Given the description of an element on the screen output the (x, y) to click on. 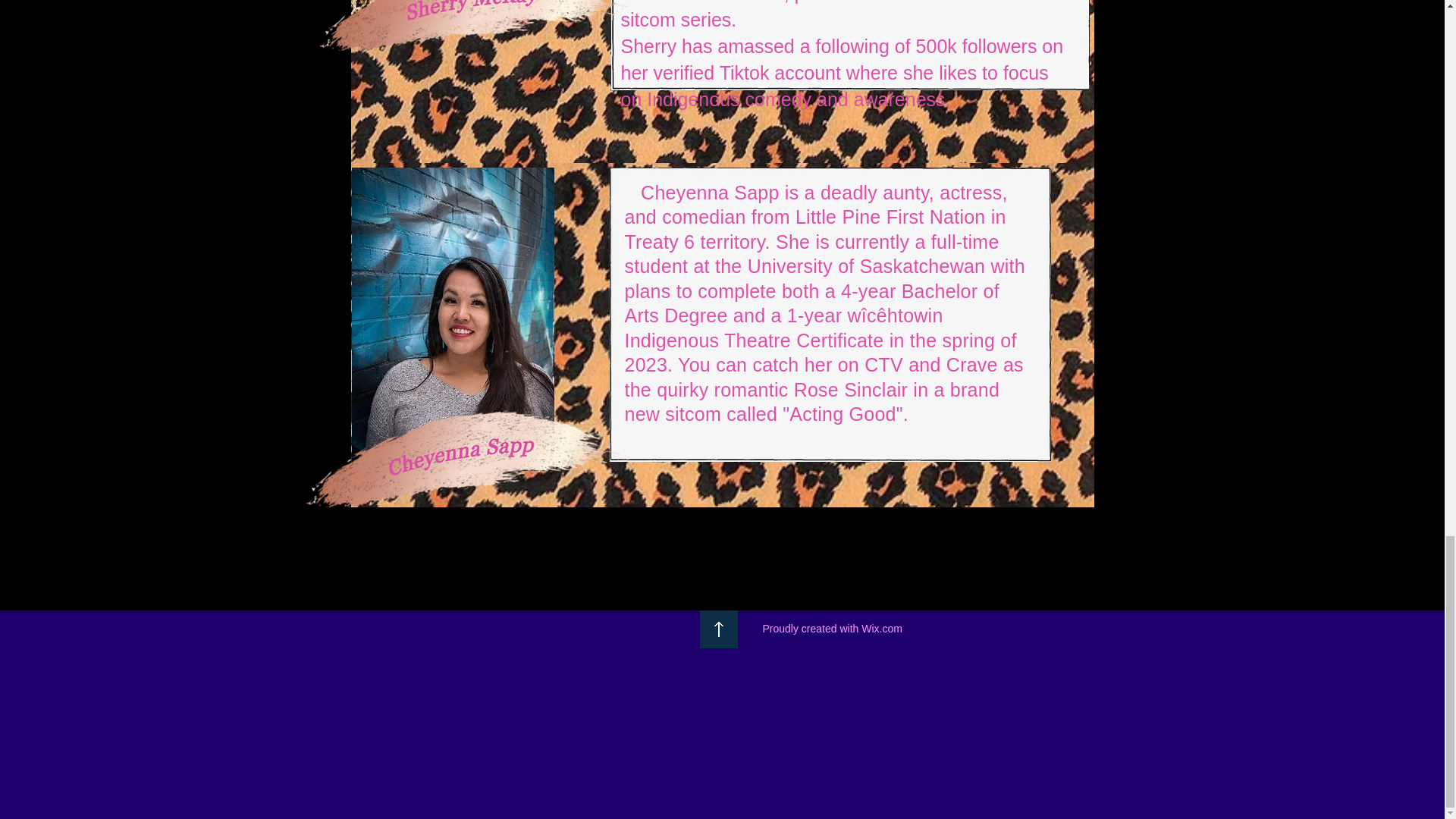
sherry.jpg (458, 7)
Wix.com (881, 627)
